Given the description of an element on the screen output the (x, y) to click on. 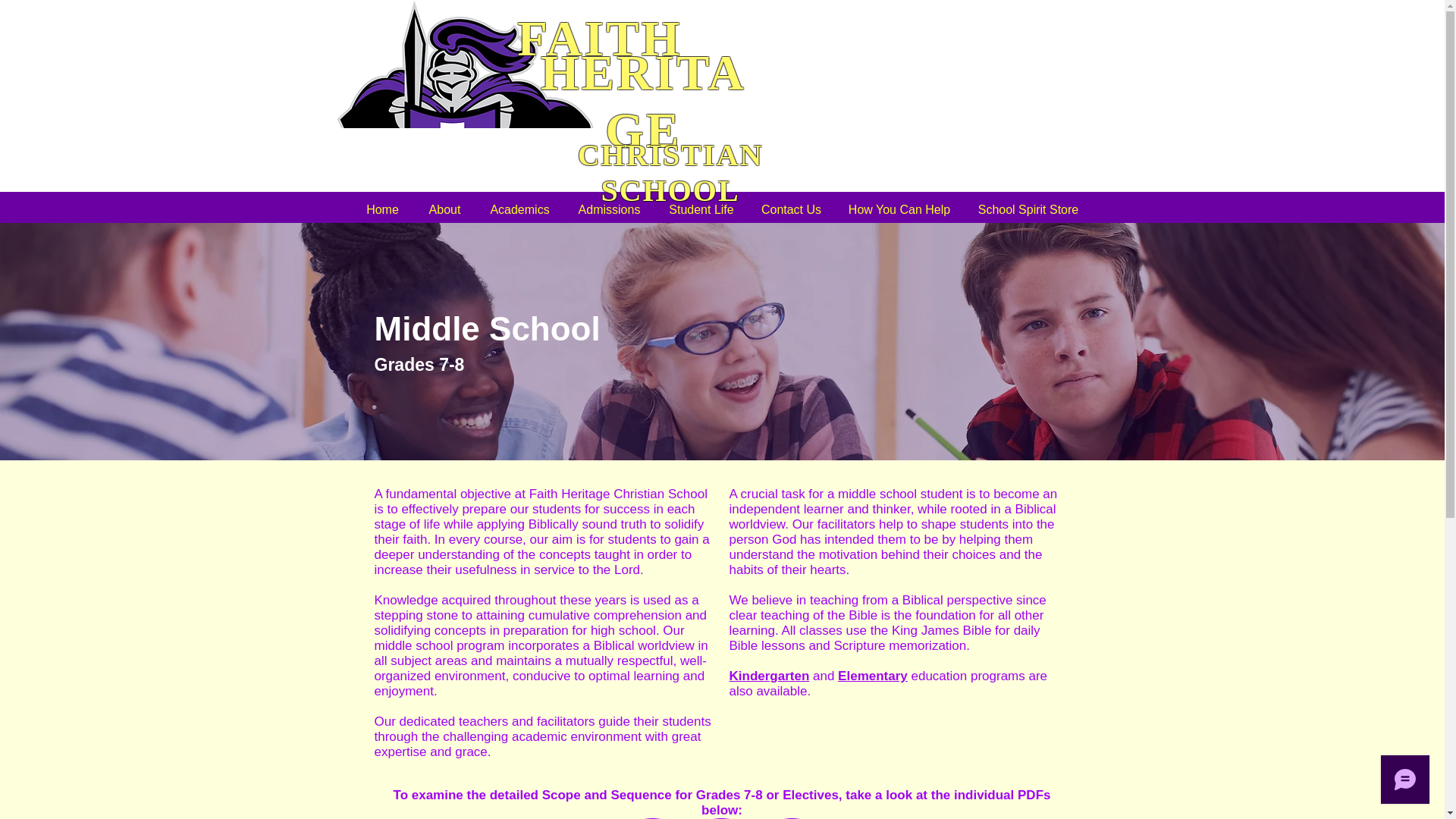
Contact Us (791, 209)
About (444, 209)
Home (382, 209)
School Spirit Store (1028, 209)
Elementary (872, 676)
8 (721, 818)
7 (651, 818)
E (791, 818)
Kindergarten (769, 676)
